Given the description of an element on the screen output the (x, y) to click on. 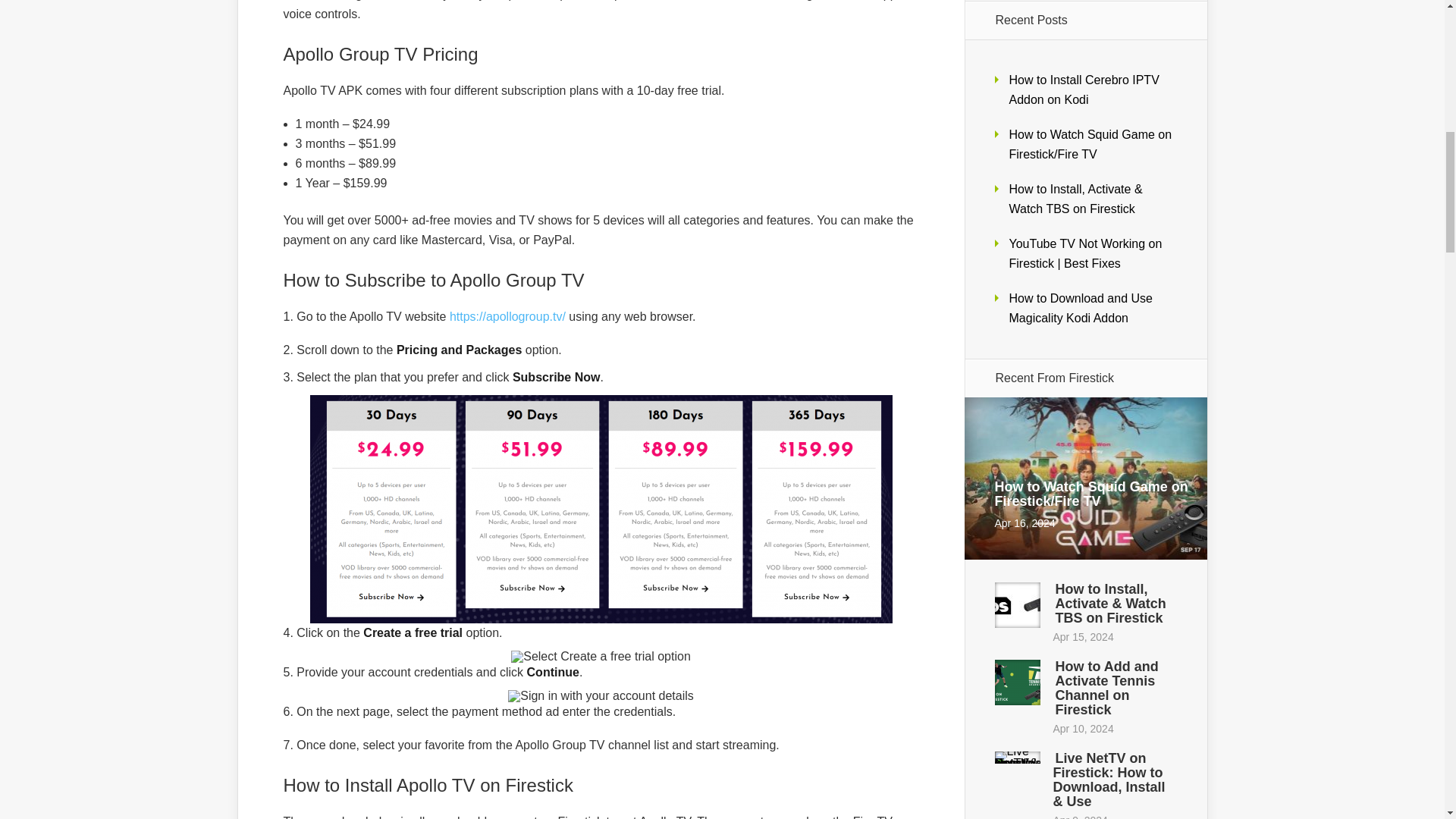
How to Download and Use Magicality Kodi Addon (1080, 307)
How to Add and Activate Tennis Channel on Firestick (1106, 688)
How to Install Cerebro IPTV Addon on Kodi (1083, 89)
